Given the description of an element on the screen output the (x, y) to click on. 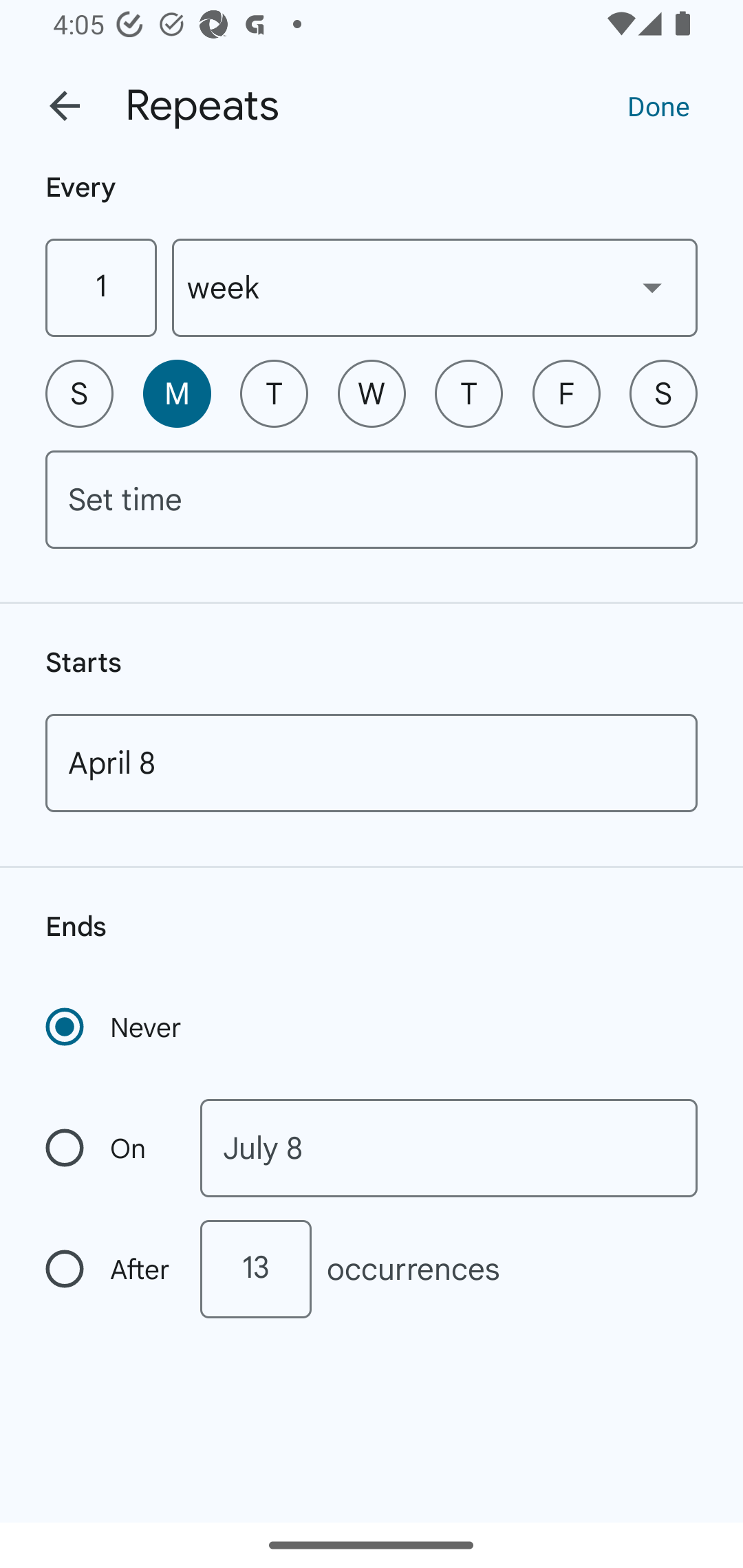
Back (64, 105)
Done (658, 105)
1 (100, 287)
week (434, 287)
Show dropdown menu (652, 286)
S Sunday (79, 393)
M Monday, selected (177, 393)
T Tuesday (273, 393)
W Wednesday (371, 393)
T Thursday (468, 393)
F Friday (566, 393)
S Saturday (663, 393)
Set time (371, 499)
April 8 (371, 762)
Never Recurrence never ends (115, 1026)
July 8 (448, 1148)
On Recurrence ends on a specific date (109, 1148)
13 (255, 1268)
